Given the description of an element on the screen output the (x, y) to click on. 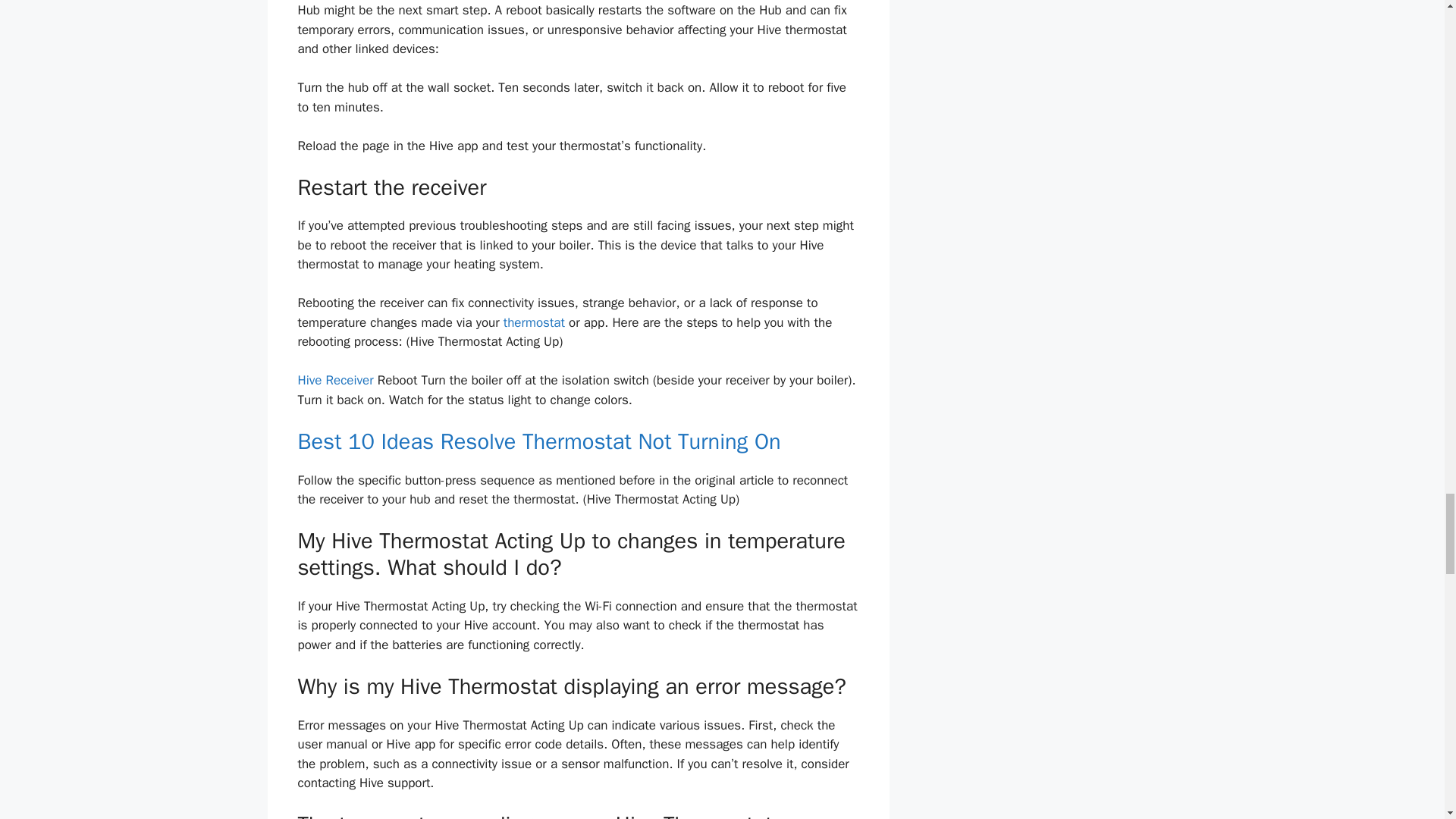
Hive Receiver (334, 380)
thermostat (533, 322)
Best 10 Ideas Resolve Thermostat Not Turning On (538, 441)
